Given the description of an element on the screen output the (x, y) to click on. 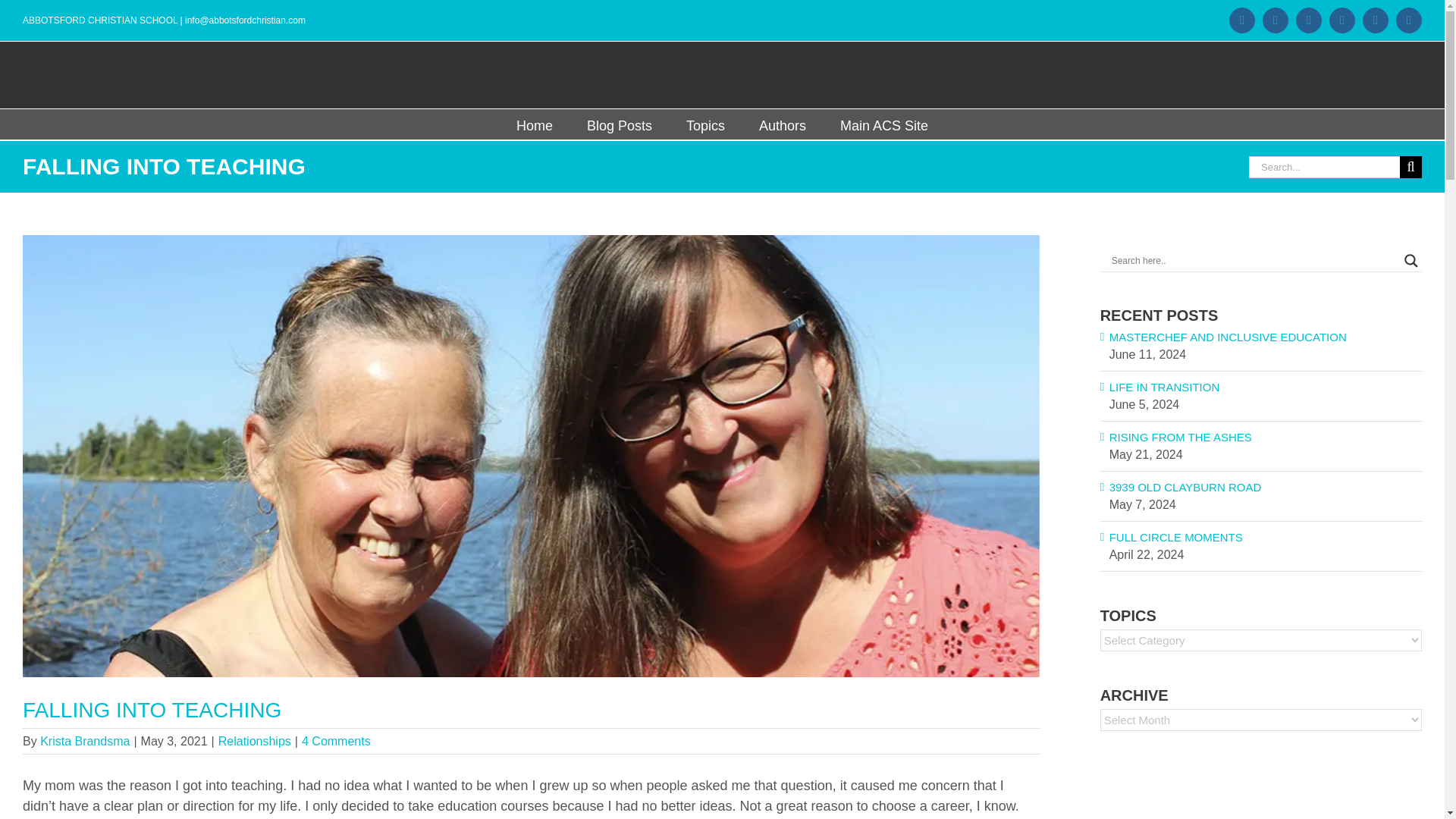
X (1375, 20)
Authors (782, 123)
Facebook (1241, 20)
YouTube (1342, 20)
Topics (705, 123)
Email (1409, 20)
Instagram (1275, 20)
Facebook (1241, 20)
Instagram (1275, 20)
Blog Posts (619, 123)
